Given the description of an element on the screen output the (x, y) to click on. 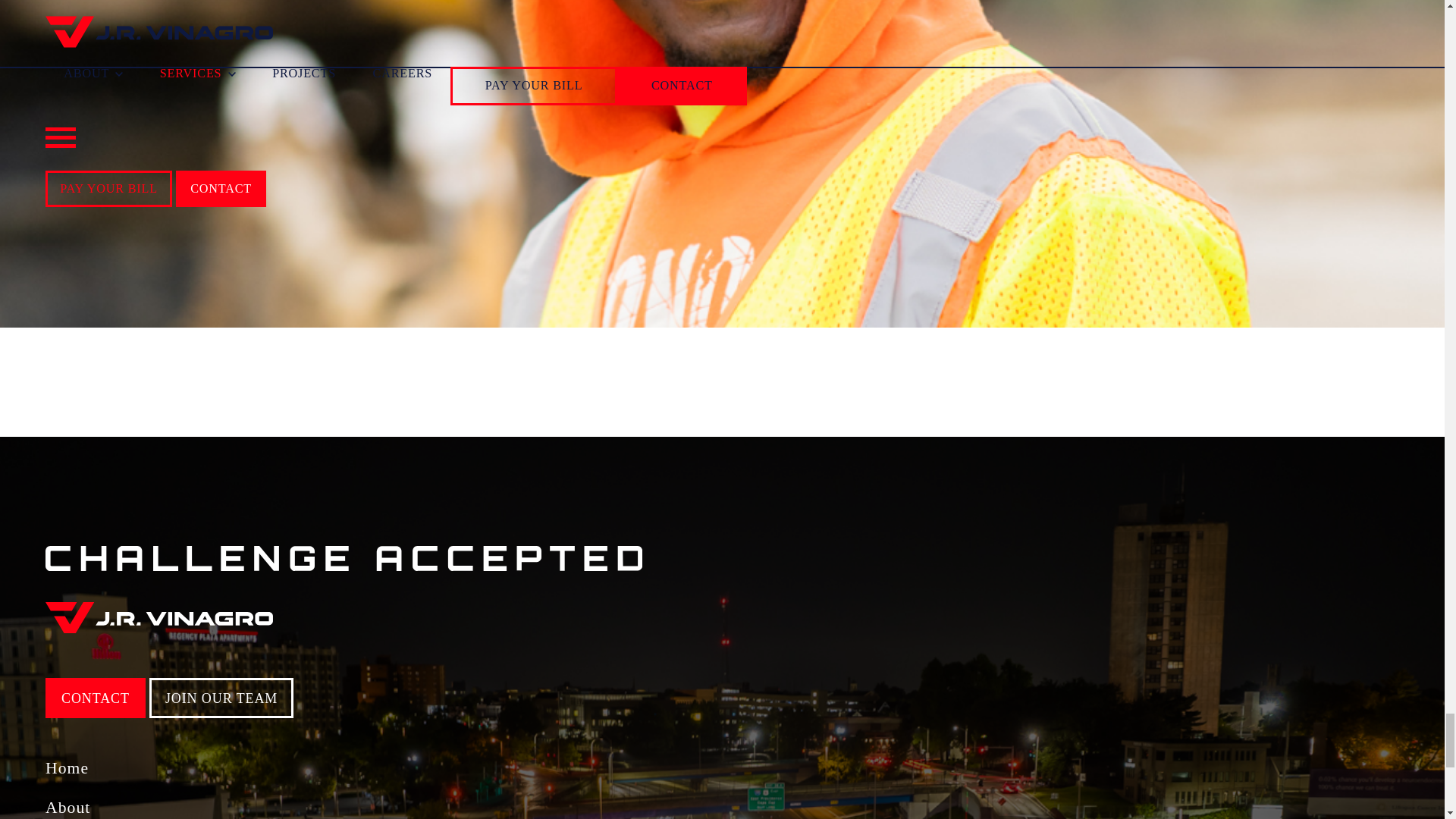
CONTACT (95, 698)
Home (617, 768)
JOIN OUR TEAM (117, 198)
JOIN OUR TEAM (221, 698)
About (617, 807)
